Given the description of an element on the screen output the (x, y) to click on. 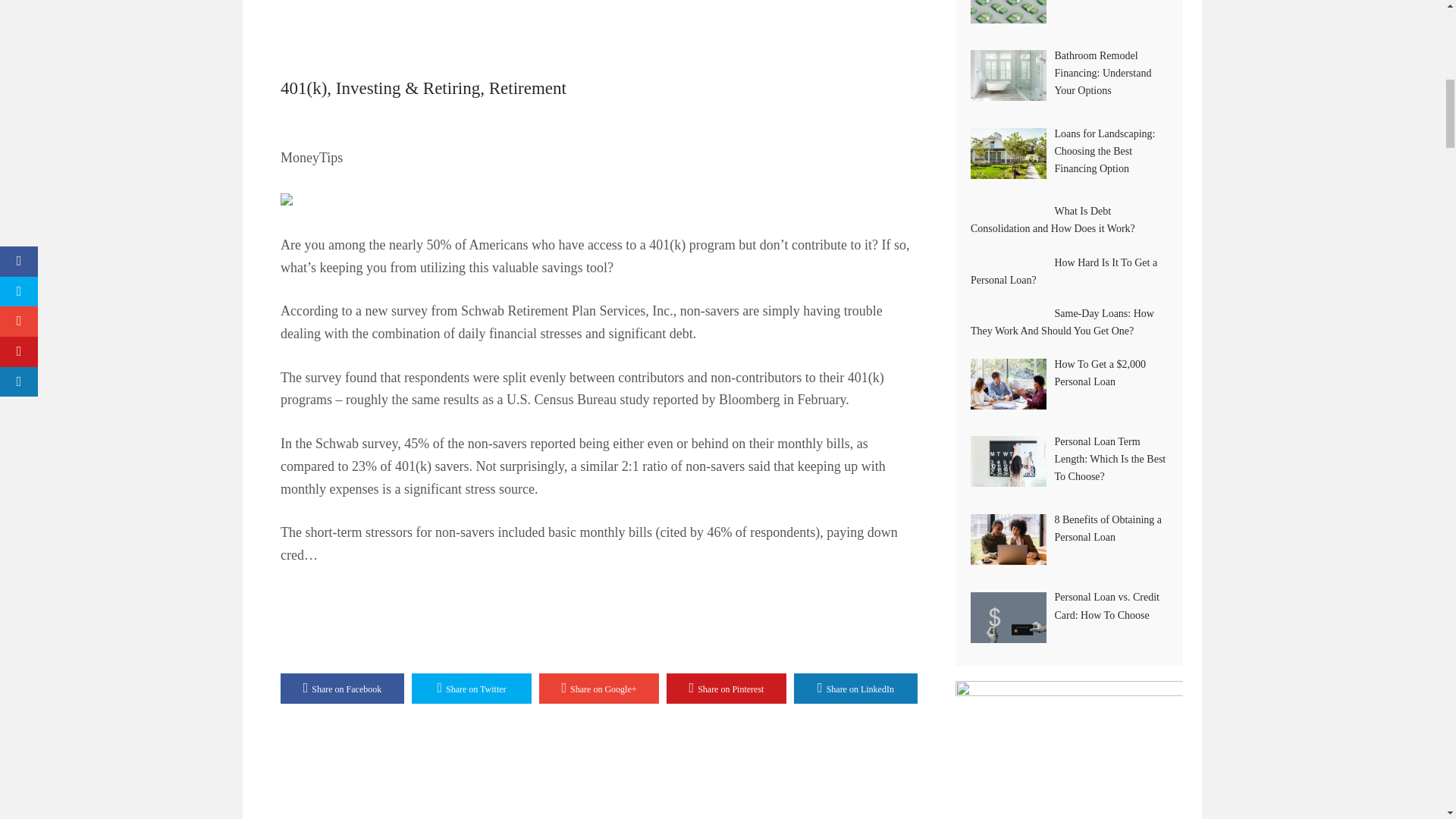
Retirement (527, 87)
